Given the description of an element on the screen output the (x, y) to click on. 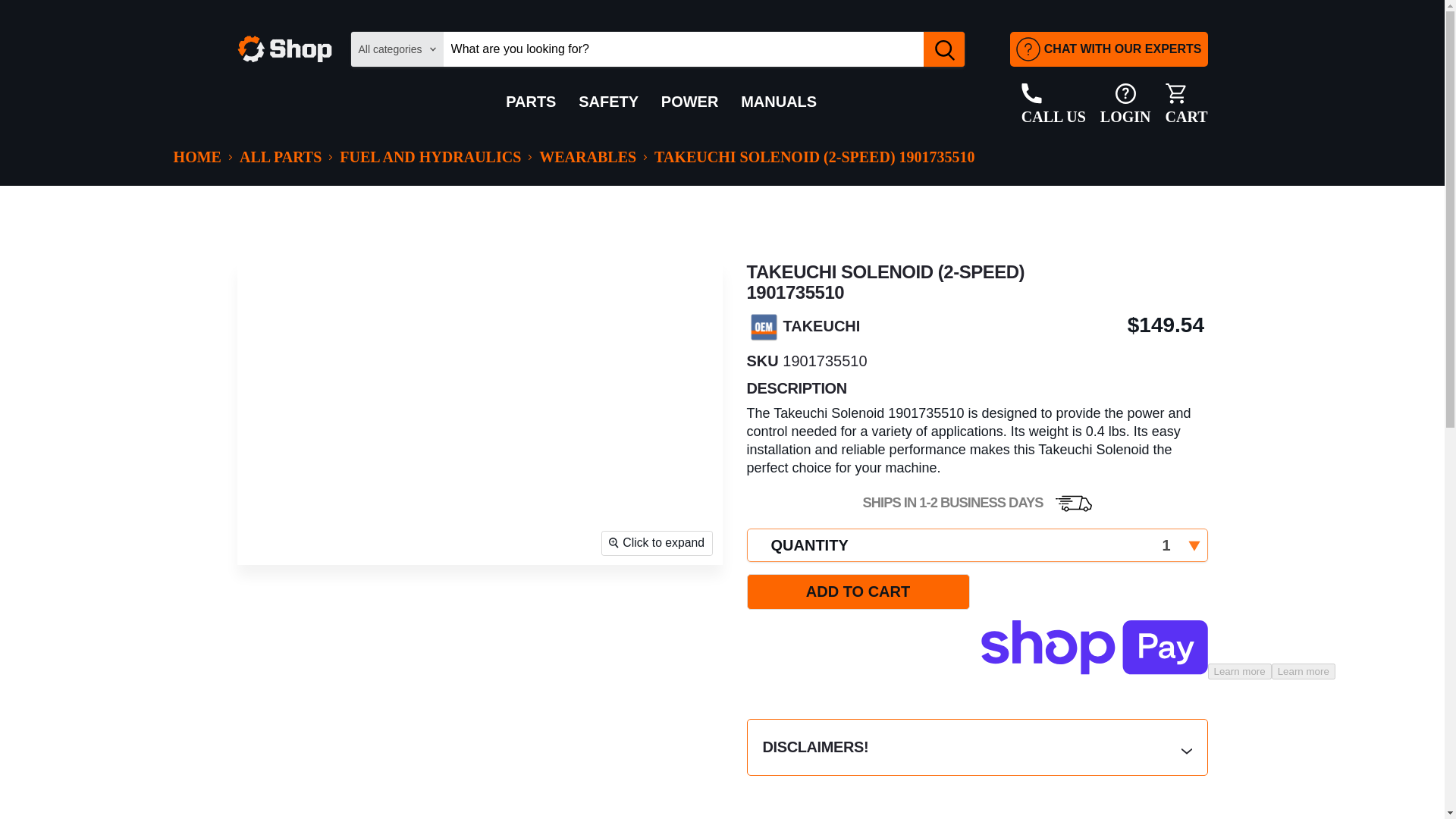
CALL US (1054, 104)
CHAT WITH OUR EXPERTS (1109, 48)
LOGIN (1125, 104)
